Given the description of an element on the screen output the (x, y) to click on. 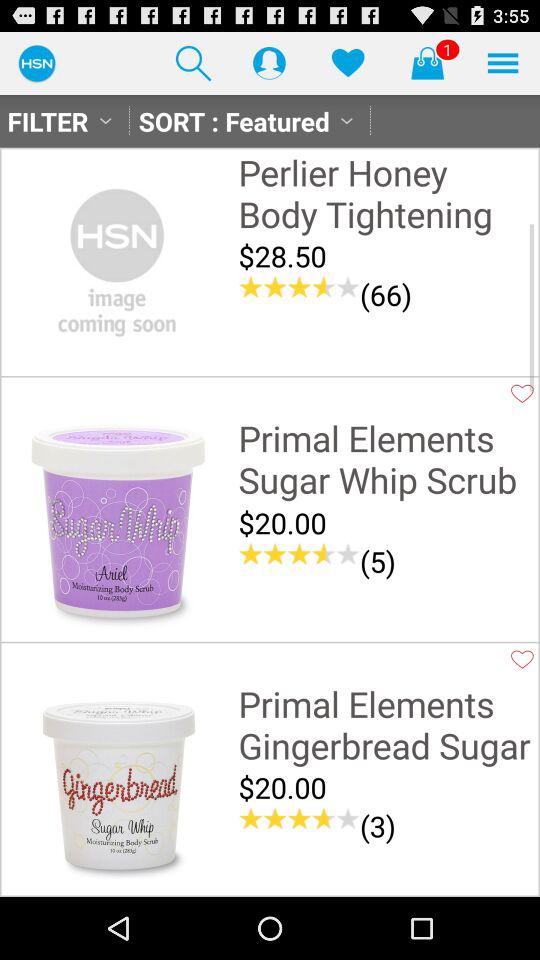
launch the item next to the (3) item (299, 818)
